Given the description of an element on the screen output the (x, y) to click on. 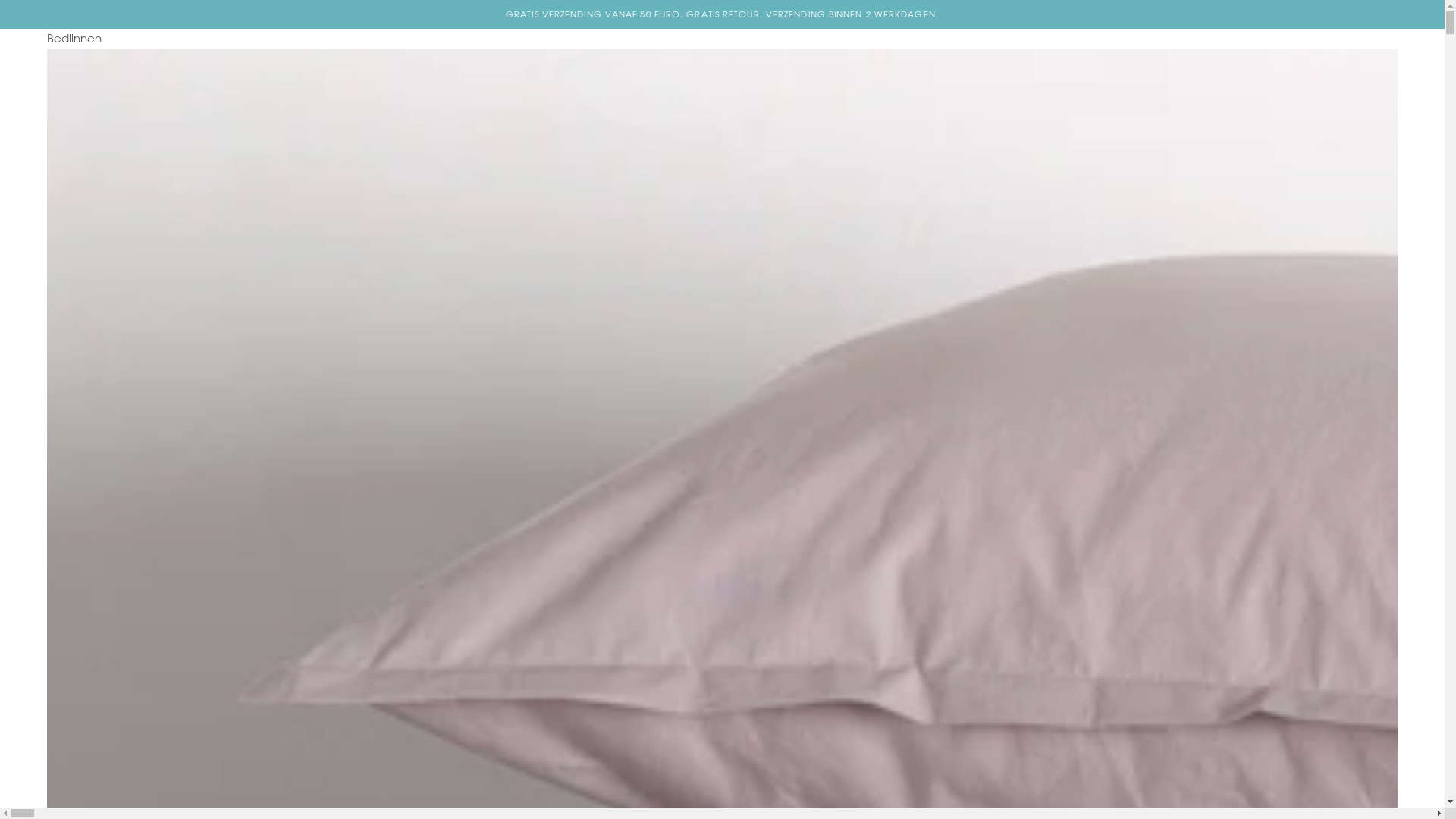
Bedlinnen Element type: text (722, 40)
